Given the description of an element on the screen output the (x, y) to click on. 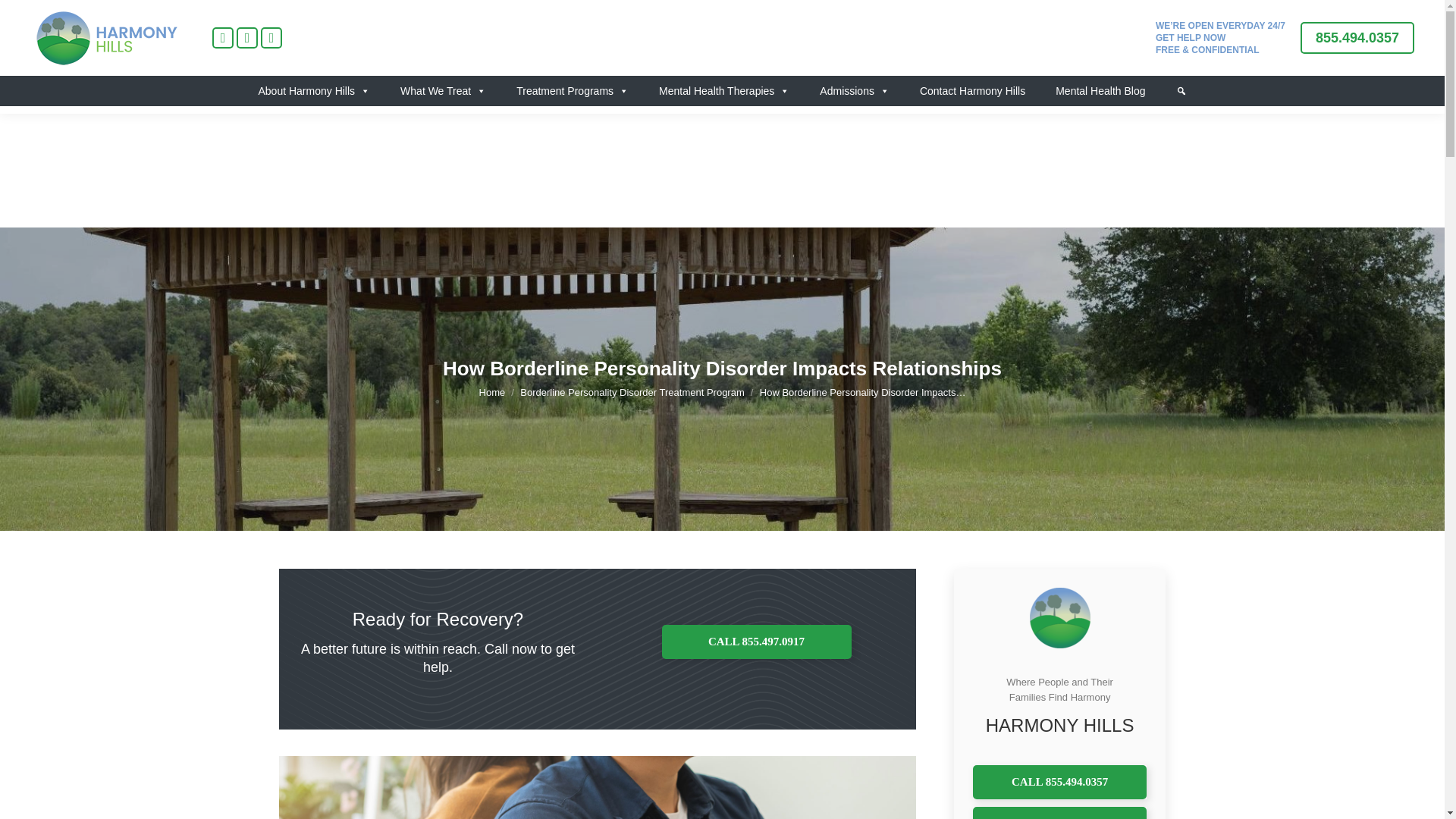
Instagram page opens in new window (271, 37)
855.494.0357 (1356, 38)
How Borderline Personality Disorder Impacts Relationships (598, 787)
Facebook page opens in new window (222, 37)
What We Treat (442, 91)
Linkedin page opens in new window (246, 37)
Instagram page opens in new window (271, 37)
Linkedin page opens in new window (246, 37)
About Harmony Hills (314, 91)
Treatment Programs (571, 91)
Facebook page opens in new window (222, 37)
